Given the description of an element on the screen output the (x, y) to click on. 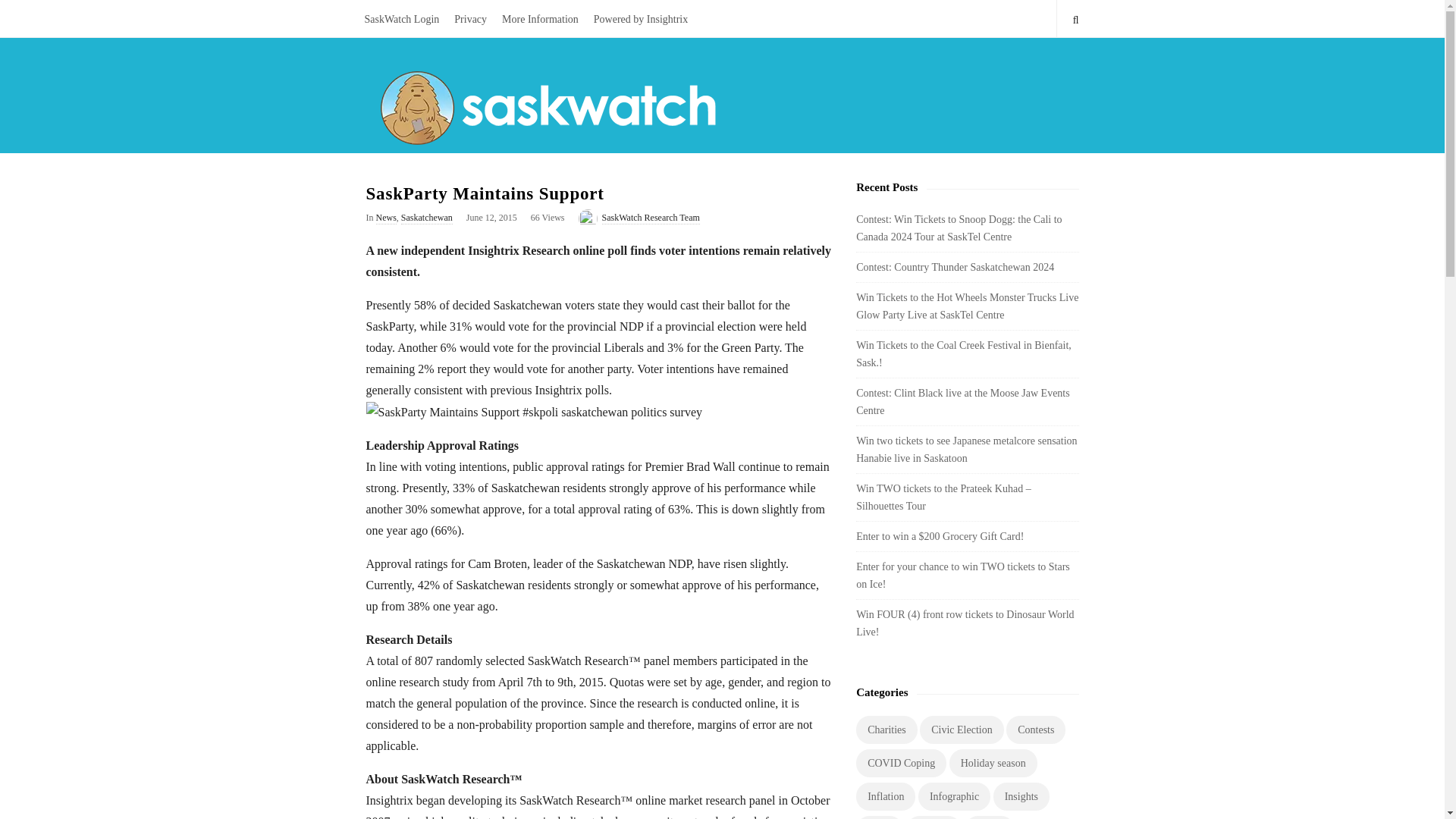
Saskatchewan (426, 218)
More Information (540, 18)
News (385, 218)
SaskWatch Research Team (651, 218)
SaskWatch Login (401, 18)
Powered by Insightrix (640, 18)
Privacy (470, 18)
